Given the description of an element on the screen output the (x, y) to click on. 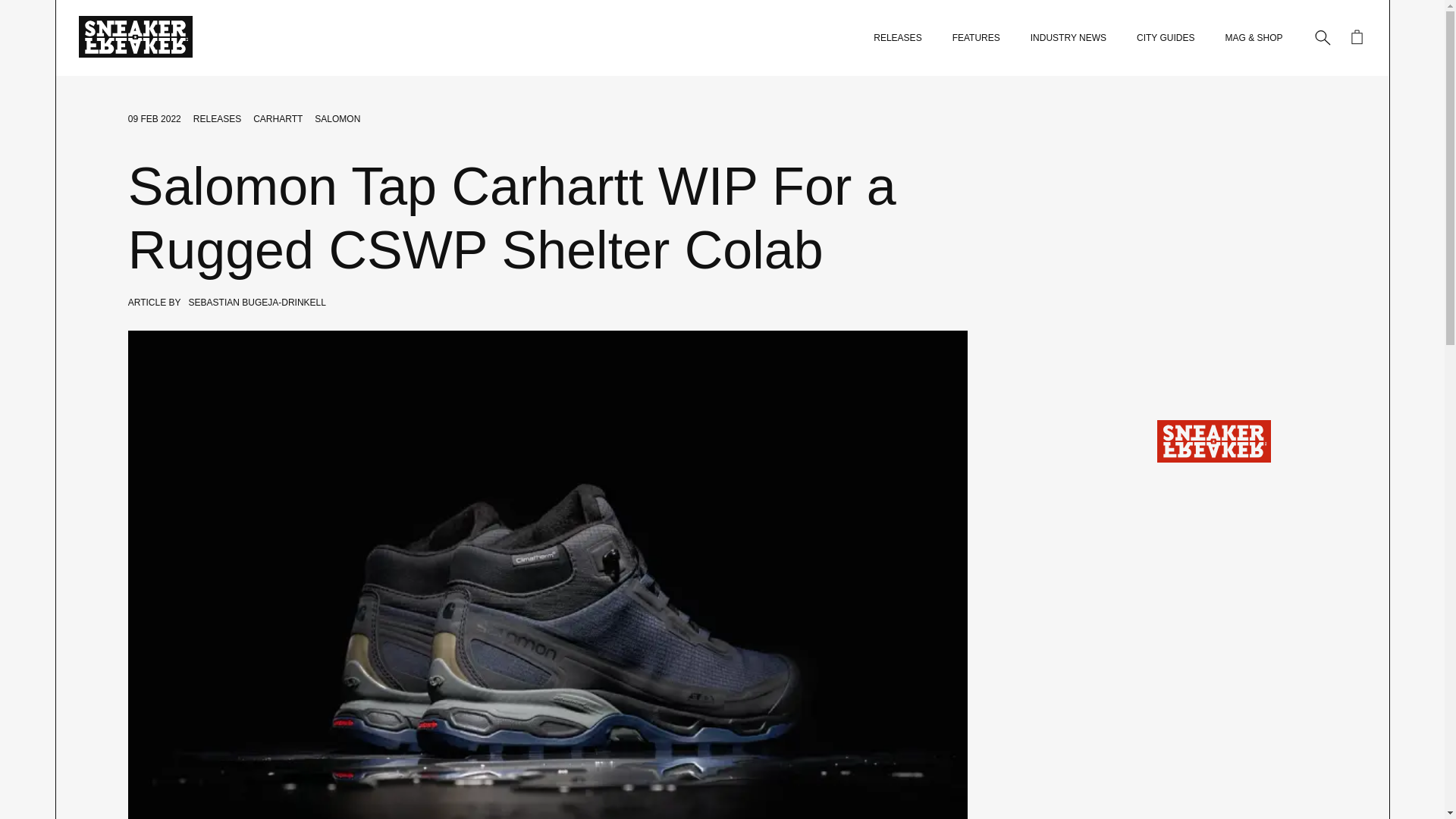
CITY GUIDES (1165, 37)
SALOMON (336, 118)
RELEASES (217, 118)
SEBASTIAN BUGEJA-DRINKELL (257, 302)
FEATURES (976, 37)
CARHARTT (277, 118)
RELEASES (897, 37)
INDUSTRY NEWS (1068, 37)
